Given the description of an element on the screen output the (x, y) to click on. 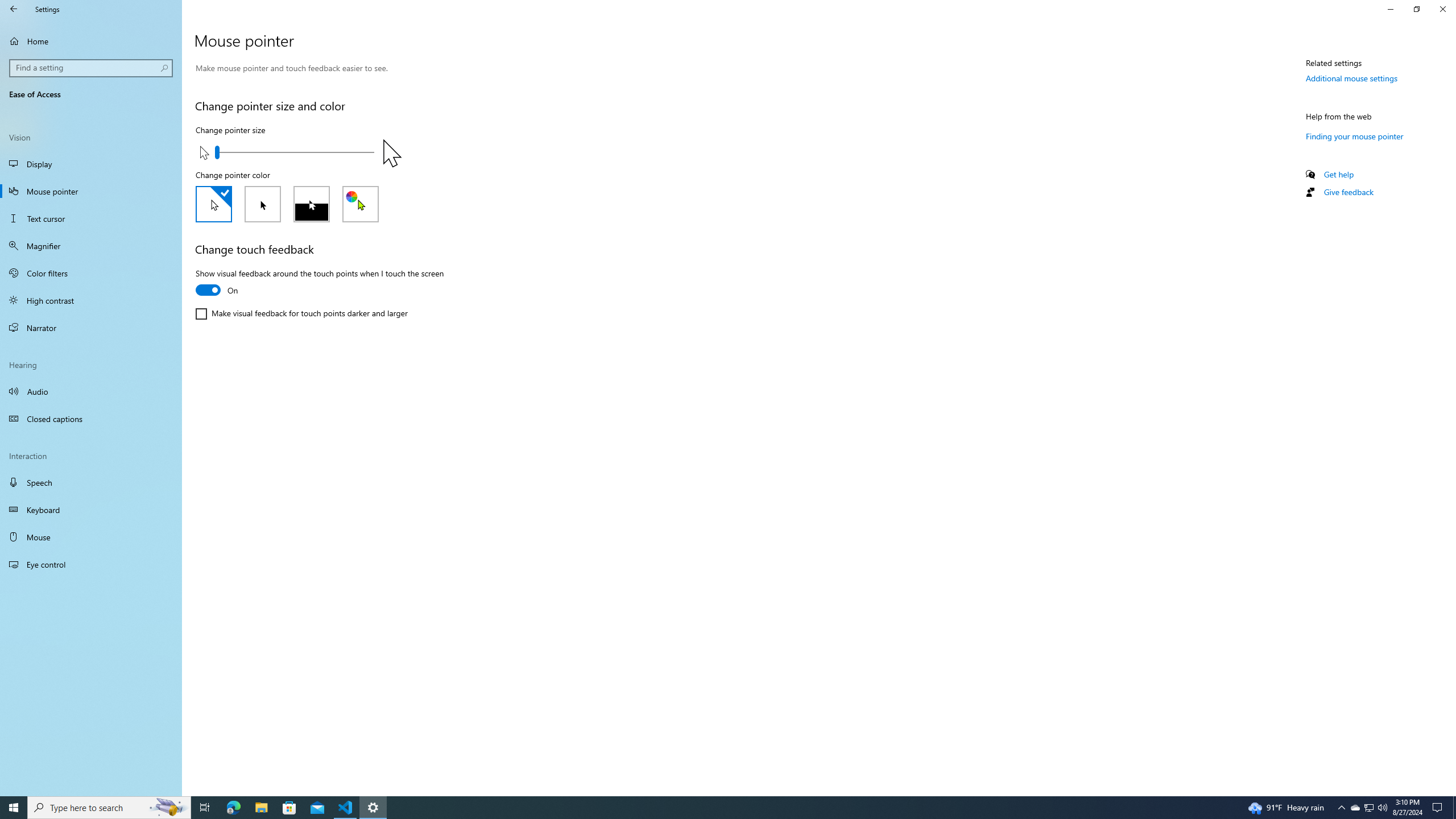
Inverted (311, 204)
Text cursor (91, 217)
Settings - 1 running window (373, 807)
Custom (360, 204)
Closed captions (91, 418)
Audio (91, 390)
Search box, Find a setting (91, 67)
Minimize Settings (1390, 9)
Mouse (91, 536)
